Given the description of an element on the screen output the (x, y) to click on. 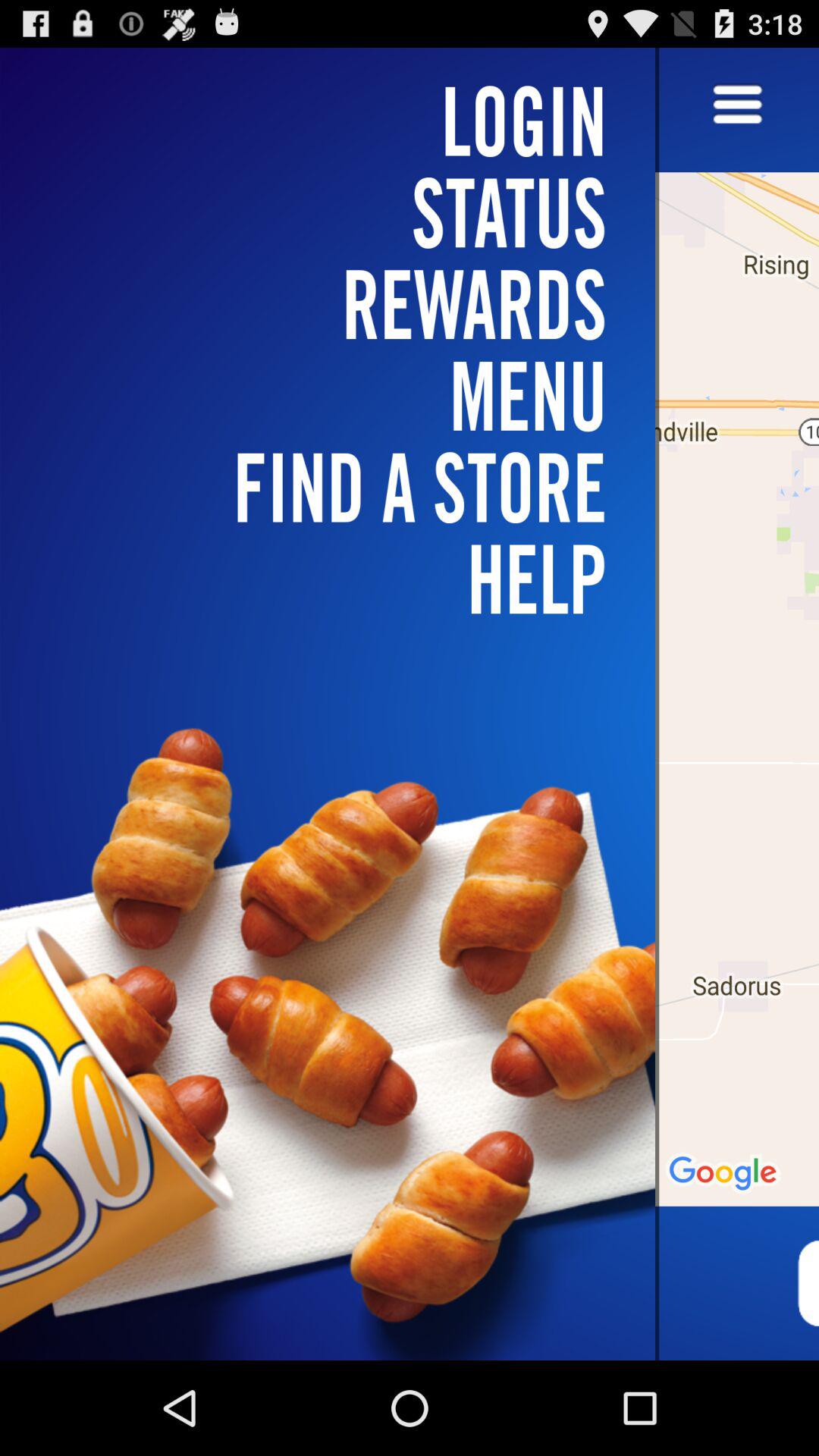
open the icon below menu icon (336, 578)
